Given the description of an element on the screen output the (x, y) to click on. 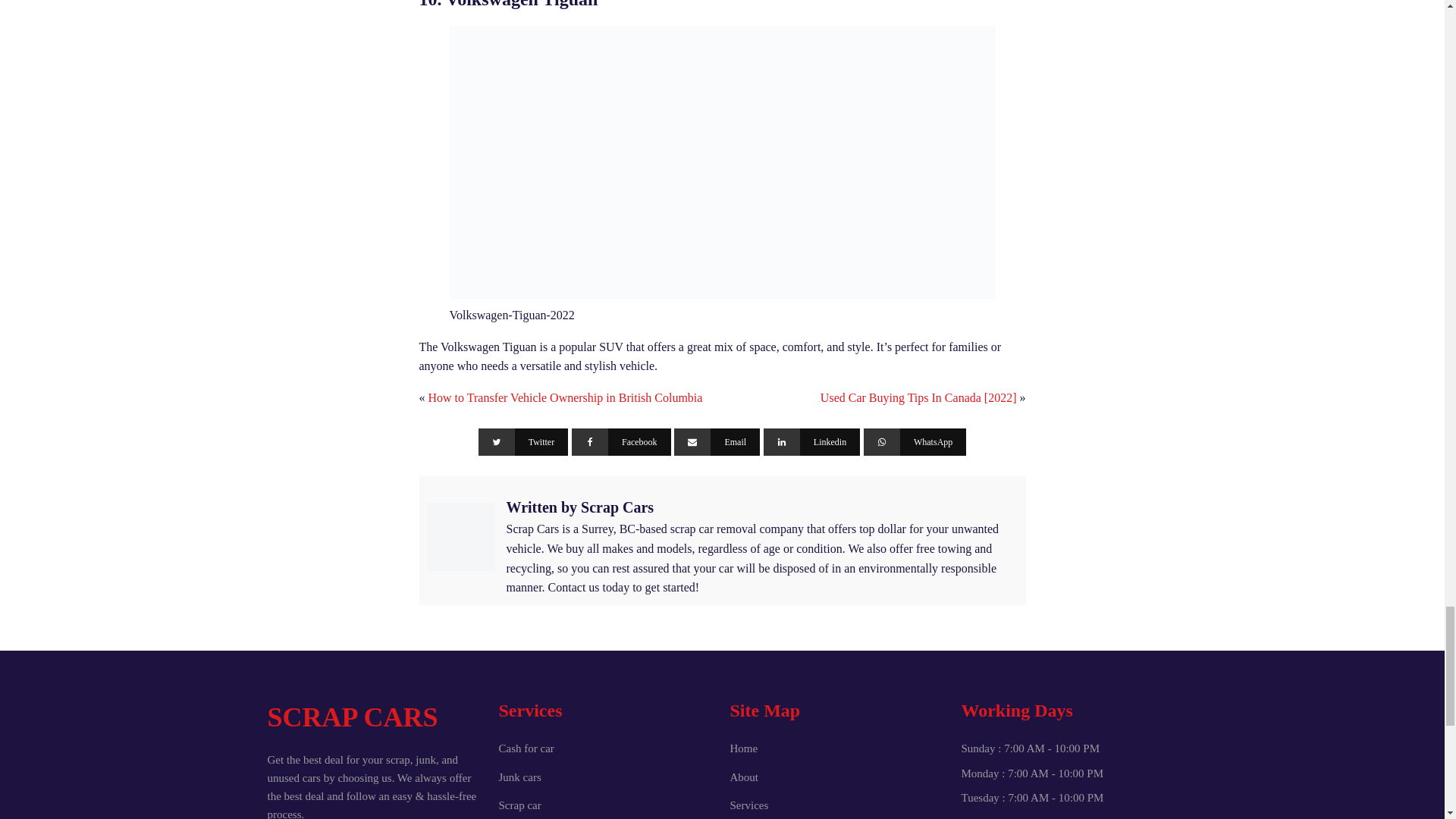
WhatsApp (914, 441)
About (743, 777)
How to Transfer Vehicle Ownership in British Columbia (564, 397)
SCRAP CARS (374, 718)
Twitter (523, 441)
Linkedin (811, 441)
Cash for car (526, 748)
Home (743, 748)
Scrap car (520, 805)
Facebook (621, 441)
Email (717, 441)
Services (748, 805)
Junk cars (520, 777)
